Given the description of an element on the screen output the (x, y) to click on. 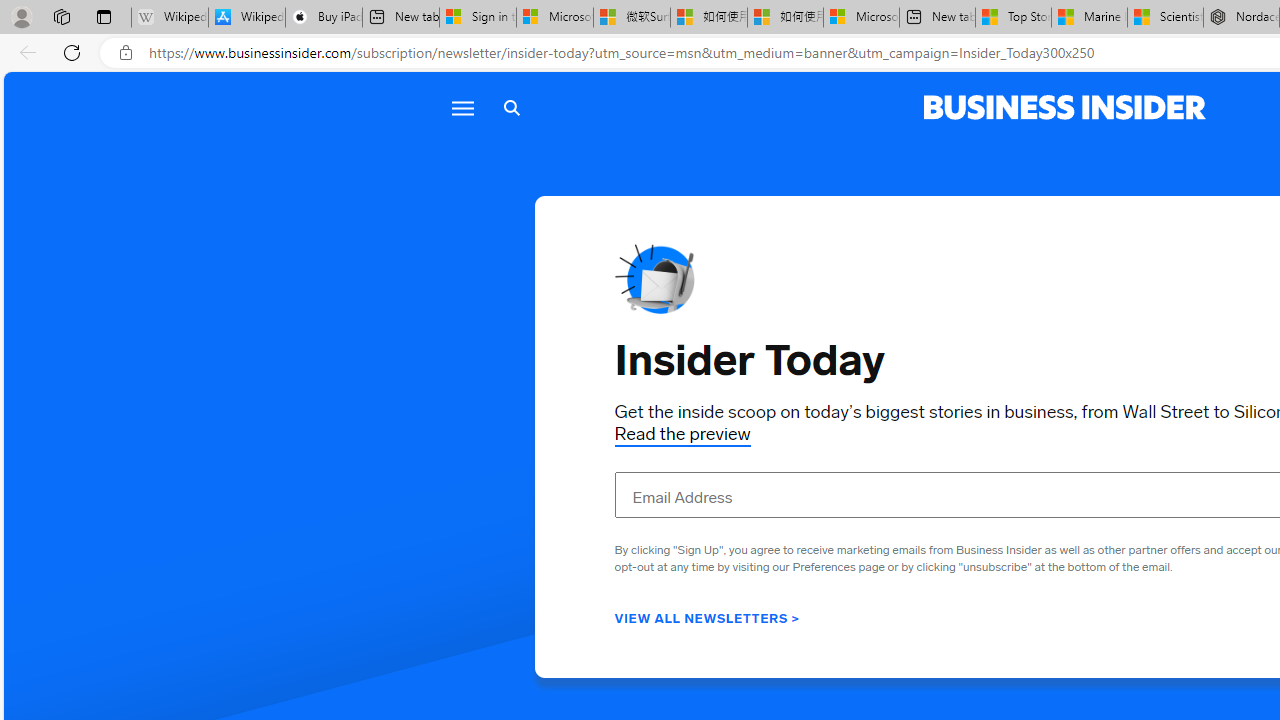
Business Insider logo (1064, 107)
Menu (461, 107)
VIEW ALL NEWSLETTERS > (707, 617)
Business Insider logo (1064, 107)
Menu icon (462, 107)
